Given the description of an element on the screen output the (x, y) to click on. 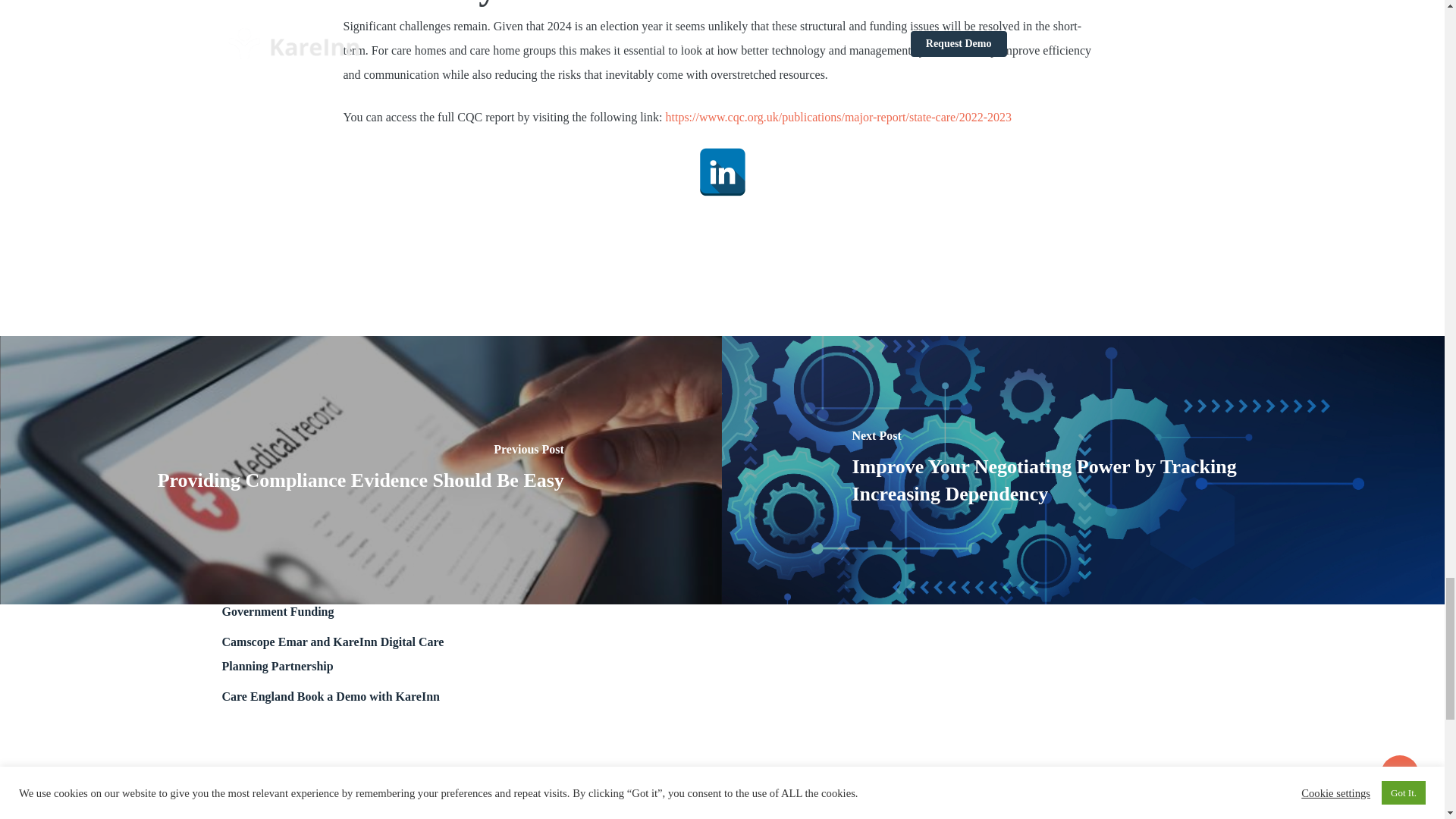
LinkedIn (721, 172)
